Given the description of an element on the screen output the (x, y) to click on. 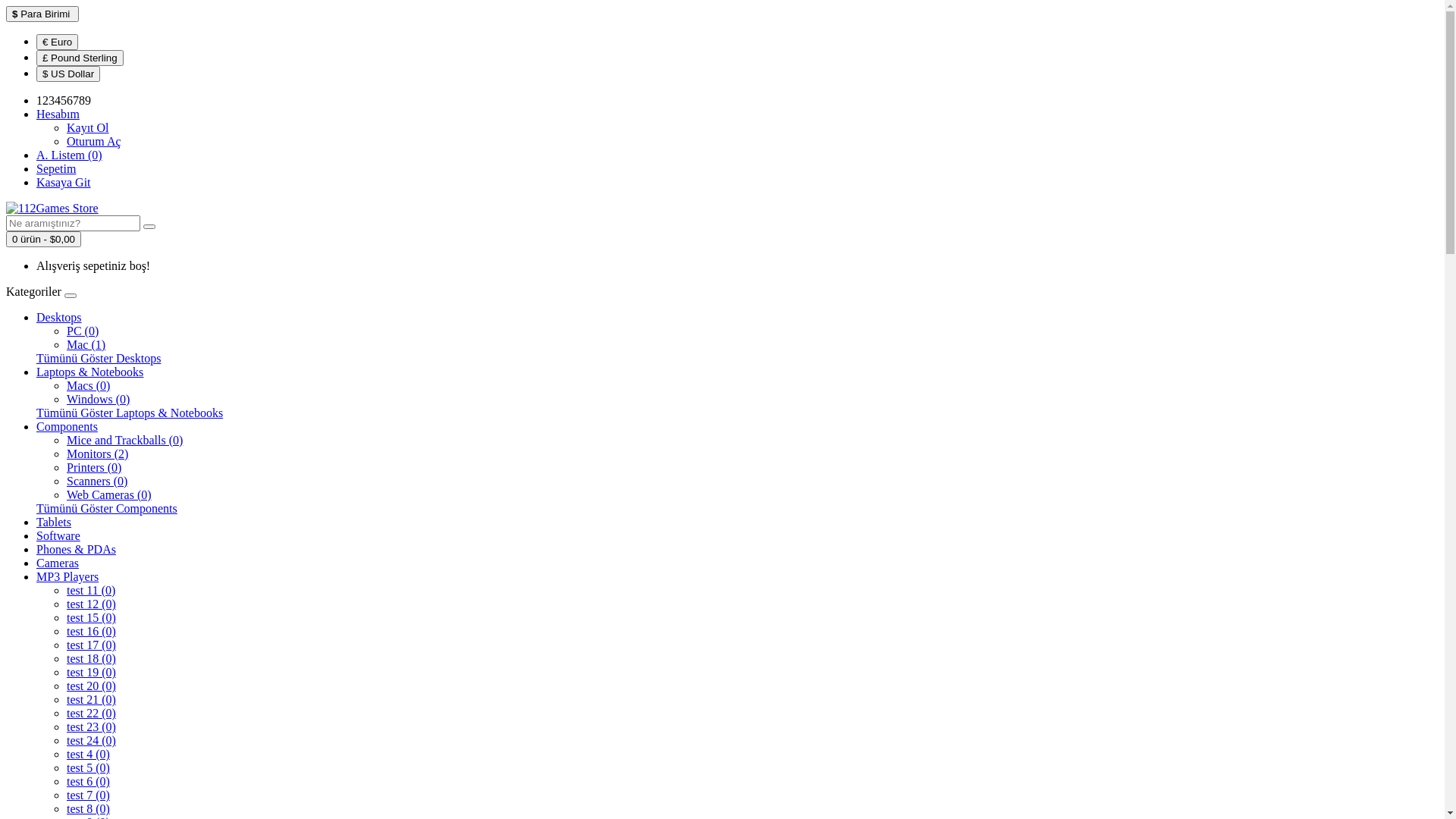
$ Para Birimi  Element type: text (42, 13)
Monitors (2) Element type: text (97, 453)
test 17 (0) Element type: text (91, 644)
Software Element type: text (58, 535)
Web Cameras (0) Element type: text (108, 494)
Components Element type: text (66, 426)
test 23 (0) Element type: text (91, 726)
Windows (0) Element type: text (97, 398)
Mac (1) Element type: text (85, 344)
Mice and Trackballs (0) Element type: text (124, 439)
112Games Store Element type: hover (52, 208)
test 11 (0) Element type: text (90, 589)
test 21 (0) Element type: text (91, 699)
PC (0) Element type: text (82, 330)
Sepetim Element type: text (55, 168)
Tablets Element type: text (53, 521)
test 15 (0) Element type: text (91, 617)
test 20 (0) Element type: text (91, 685)
MP3 Players Element type: text (67, 576)
test 4 (0) Element type: text (87, 753)
test 22 (0) Element type: text (91, 712)
Printers (0) Element type: text (93, 467)
Laptops & Notebooks Element type: text (89, 371)
Phones & PDAs Element type: text (76, 548)
test 7 (0) Element type: text (87, 794)
test 19 (0) Element type: text (91, 671)
Desktops Element type: text (58, 316)
test 18 (0) Element type: text (91, 658)
Scanners (0) Element type: text (96, 480)
test 16 (0) Element type: text (91, 630)
$ US Dollar Element type: text (68, 73)
Kasaya Git Element type: text (63, 181)
test 8 (0) Element type: text (87, 808)
Cameras Element type: text (57, 562)
Macs (0) Element type: text (87, 385)
test 5 (0) Element type: text (87, 767)
test 12 (0) Element type: text (91, 603)
test 24 (0) Element type: text (91, 740)
test 6 (0) Element type: text (87, 781)
A. Listem (0) Element type: text (69, 154)
